Given the description of an element on the screen output the (x, y) to click on. 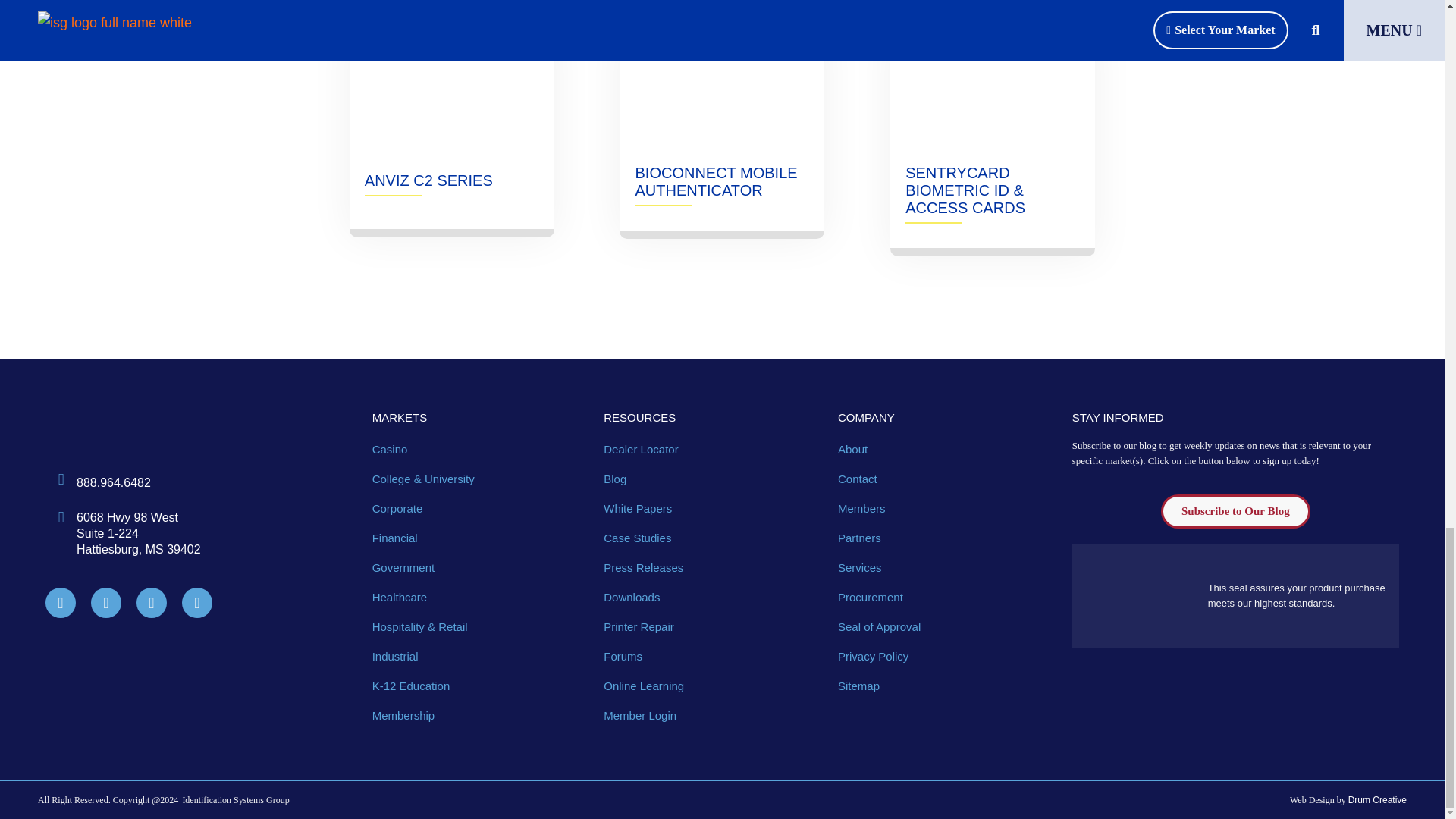
Contact (947, 478)
Case Studies (713, 538)
Dealer Locator (713, 449)
Industrial (480, 656)
Blog (713, 478)
888.964.6482 (114, 481)
Healthcare (480, 597)
Financial (480, 538)
Printer Repair (713, 626)
Online Learning (713, 685)
